Given the description of an element on the screen output the (x, y) to click on. 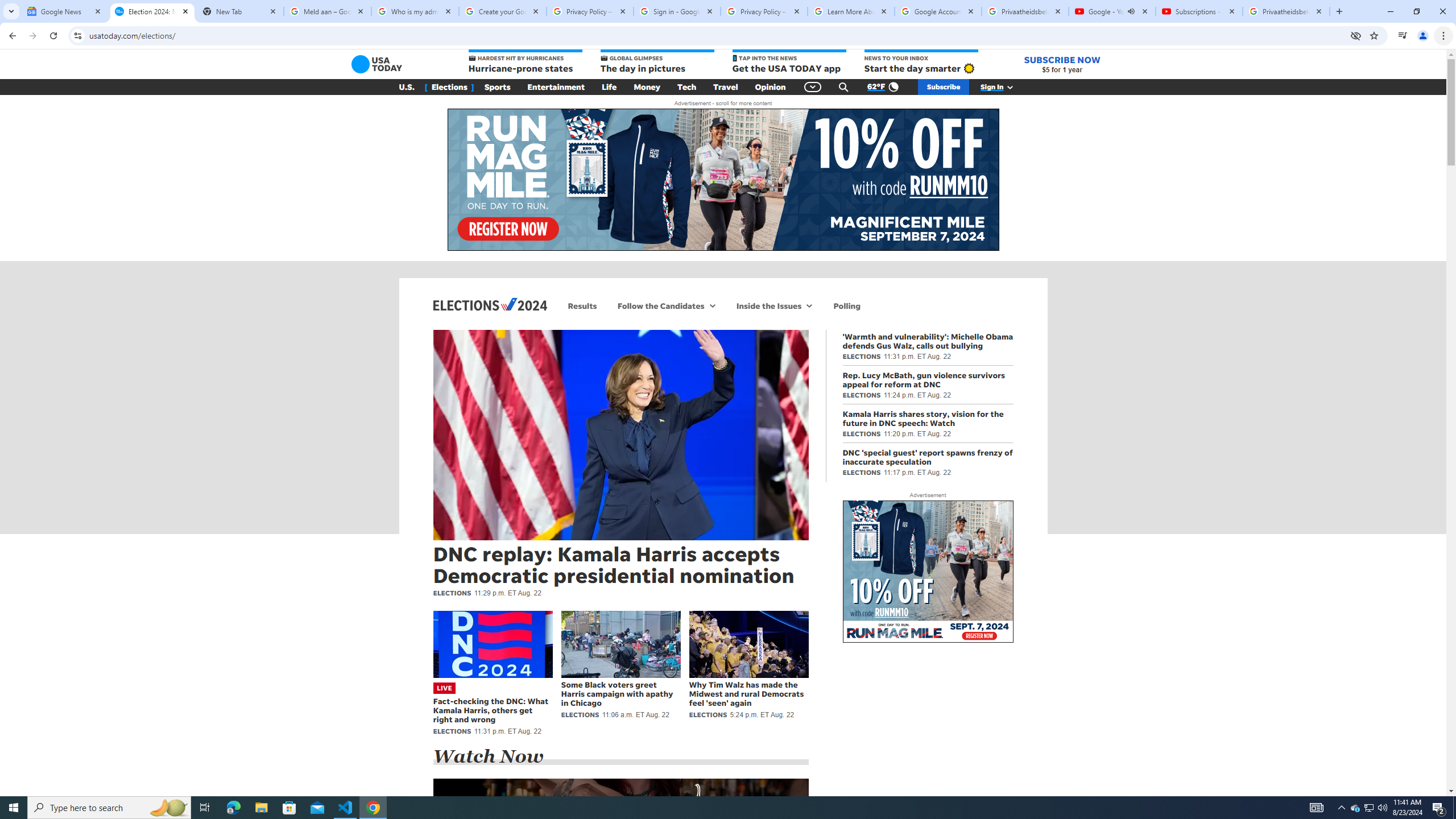
Who is my administrator? - Google Account Help (415, 11)
Entertainment (556, 87)
Sign in - Google Accounts (676, 11)
USA TODAY (376, 64)
Global Navigation (812, 87)
